Given the description of an element on the screen output the (x, y) to click on. 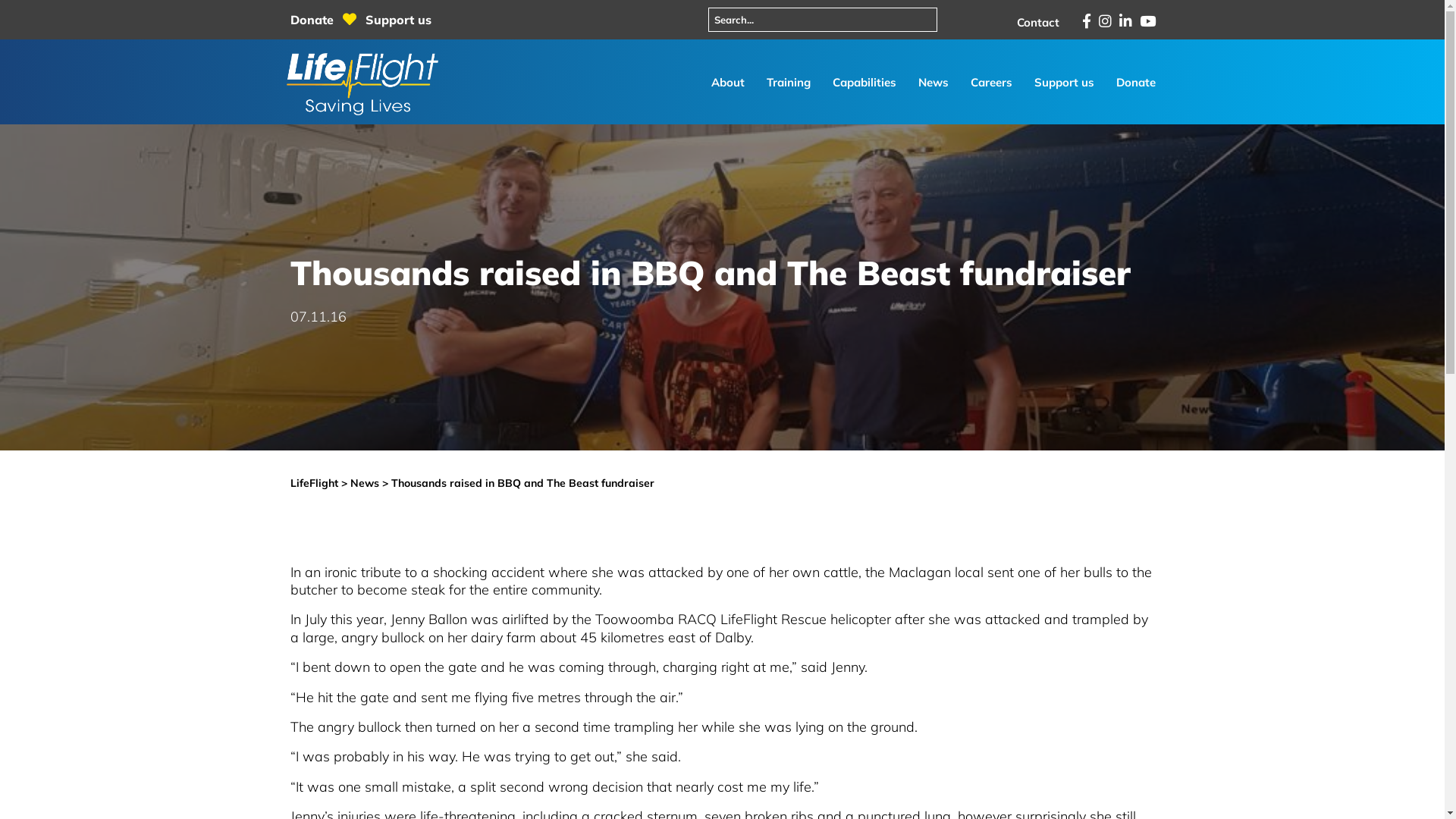
Donate Element type: text (1135, 81)
Support us Element type: text (398, 19)
LifeFlight Element type: text (313, 482)
About Element type: text (727, 81)
Donate Element type: text (312, 19)
Follow on LinkedIn Element type: text (1125, 21)
News Element type: text (364, 482)
News Element type: text (932, 81)
Follow on Instagram Element type: text (1104, 21)
Follow on Facebook Element type: text (1085, 21)
Follow on YouTube Element type: text (1146, 21)
Contact Element type: text (1037, 22)
Training Element type: text (787, 81)
Capabilities Element type: text (864, 81)
Support us Element type: text (1063, 81)
Careers Element type: text (991, 81)
